Given the description of an element on the screen output the (x, y) to click on. 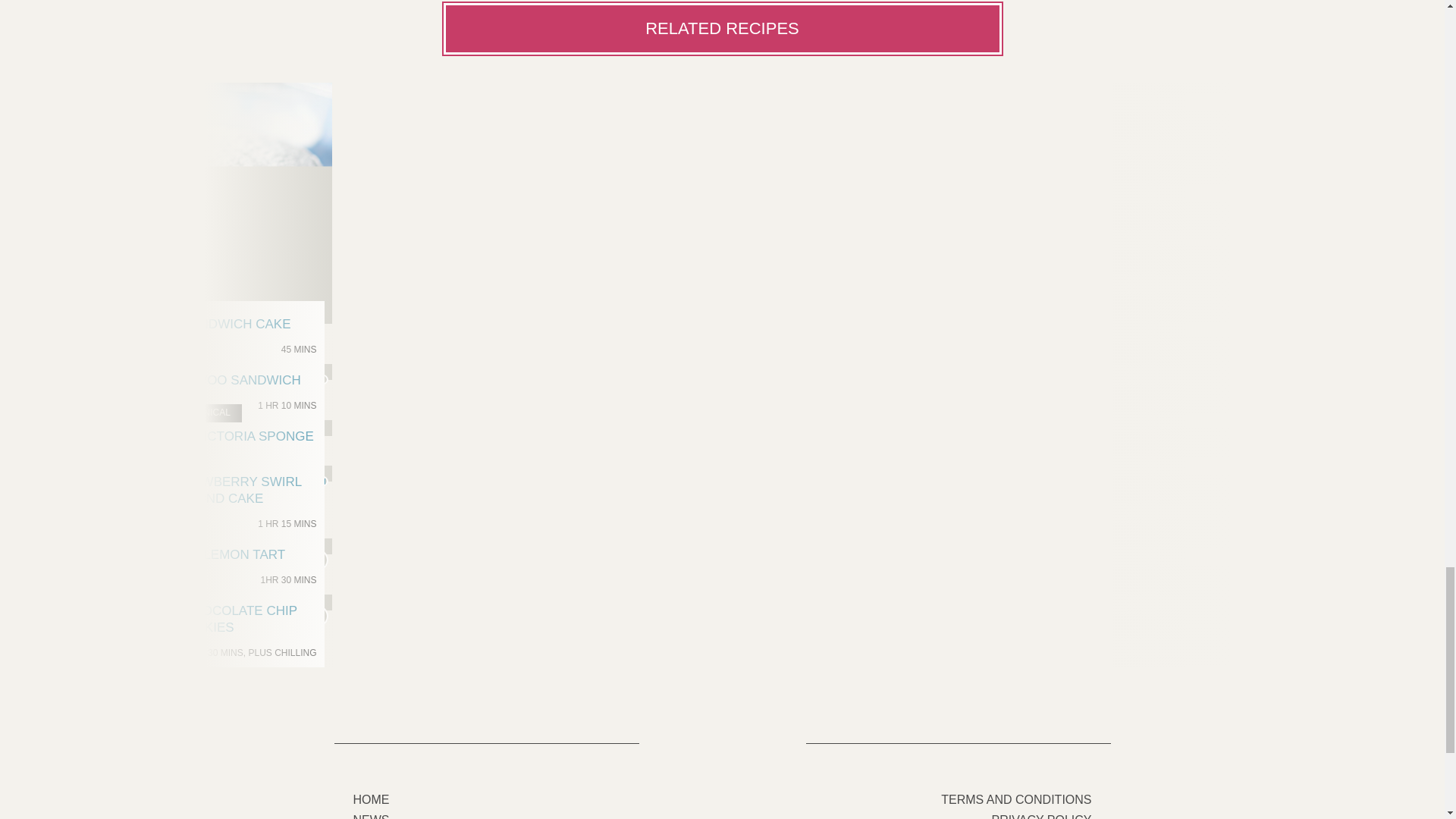
PRIVACY POLICY (1041, 816)
NEWS (371, 816)
TERMS AND CONDITIONS (1015, 799)
HOME (204, 222)
